Given the description of an element on the screen output the (x, y) to click on. 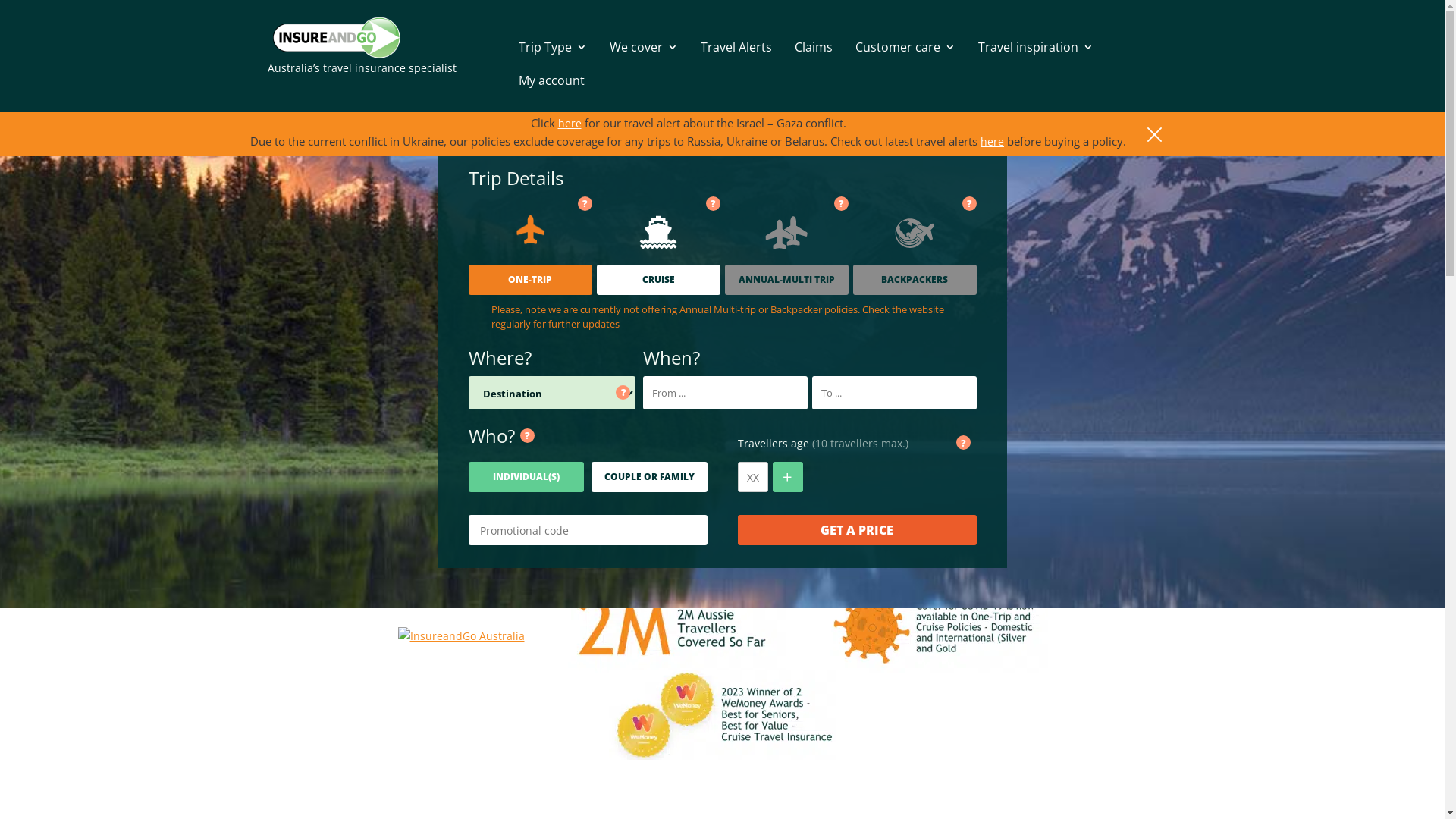
Travel inspiration Element type: text (1035, 46)
? Element type: text (622, 392)
? Element type: text (841, 203)
? Element type: text (841, 203)
ONE-TRIP Element type: text (530, 279)
Customer care Element type: text (905, 46)
Covid-19 Cover Available Element type: hover (934, 628)
+ Element type: text (786, 476)
COUPLE OR FAMILY Element type: text (649, 476)
? Element type: text (527, 435)
GET A PRICE Element type: text (856, 529)
We cover Element type: text (643, 46)
? Element type: text (712, 203)
Trip Type Element type: text (552, 46)
Claims Element type: text (813, 46)
? Element type: text (712, 203)
? Element type: text (584, 203)
? Element type: text (968, 203)
? Element type: text (584, 203)
here Element type: text (569, 123)
INDIVIDUAL(S) Element type: text (526, 476)
? Element type: text (968, 203)
Travel Alerts Element type: text (735, 46)
2 Million Aussie Travellers Covered So Far Element type: hover (671, 628)
close_tcm1005-493407 Element type: hover (1153, 134)
here Element type: text (992, 141)
BACKPACKERS Element type: text (913, 279)
ANNUAL-MULTI TRIP Element type: text (786, 279)
? Element type: text (962, 442)
CRUISE Element type: text (657, 279)
My account Element type: text (551, 80)
insuranceandgo Element type: hover (335, 37)
